Given the description of an element on the screen output the (x, y) to click on. 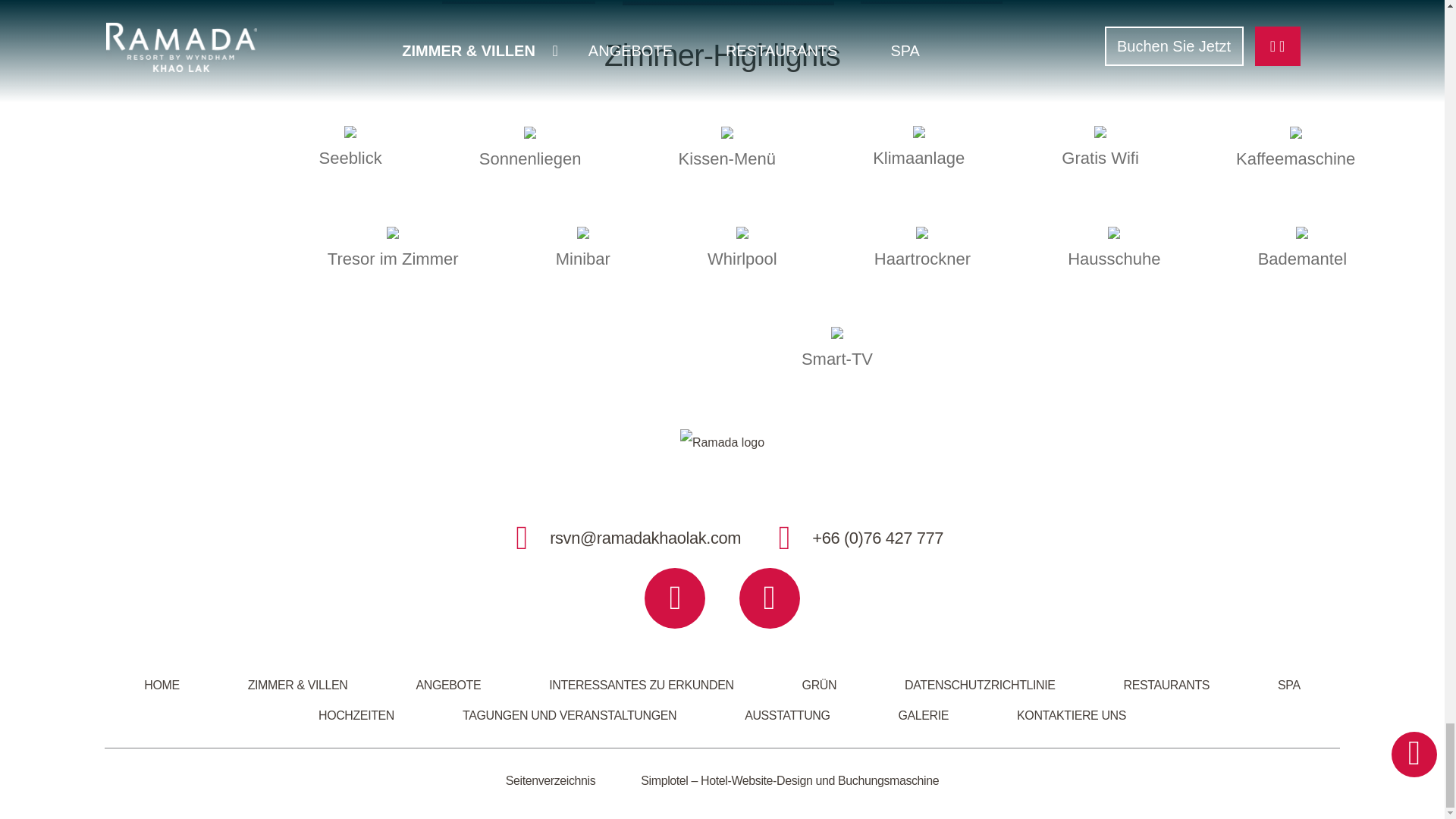
buchen Sie jetzt (518, 2)
Andere Zimmer anzeigen (728, 2)
HOME (161, 685)
click here for sitemap (550, 780)
Virtuelle Tour (930, 2)
